Given the description of an element on the screen output the (x, y) to click on. 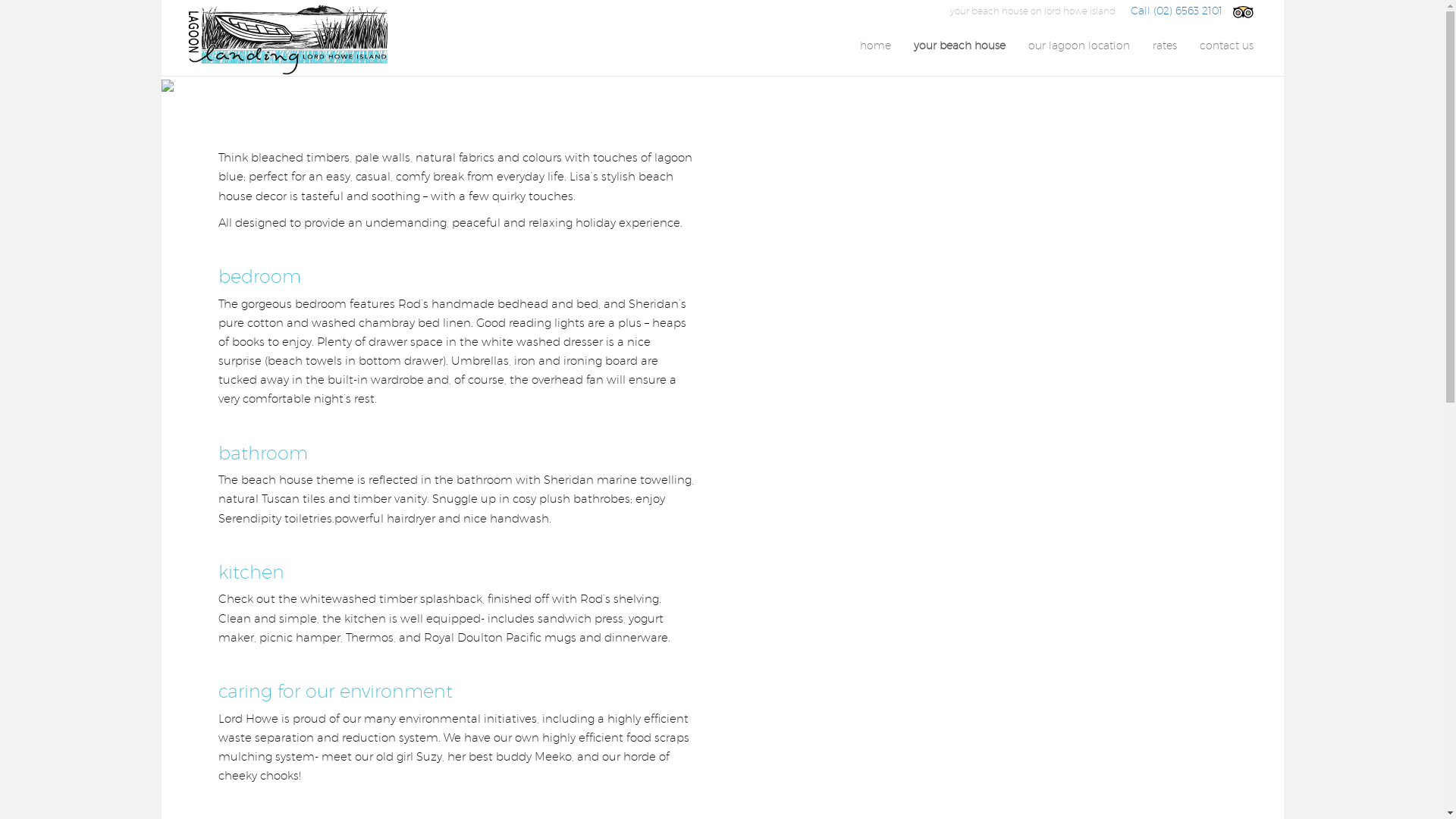
rates Element type: text (1163, 45)
home Element type: text (874, 45)
Call (02) 6563 2101 Element type: text (1175, 10)
contact us Element type: text (1225, 45)
our lagoon location Element type: text (1078, 45)
your beach house Element type: text (959, 45)
